Given the description of an element on the screen output the (x, y) to click on. 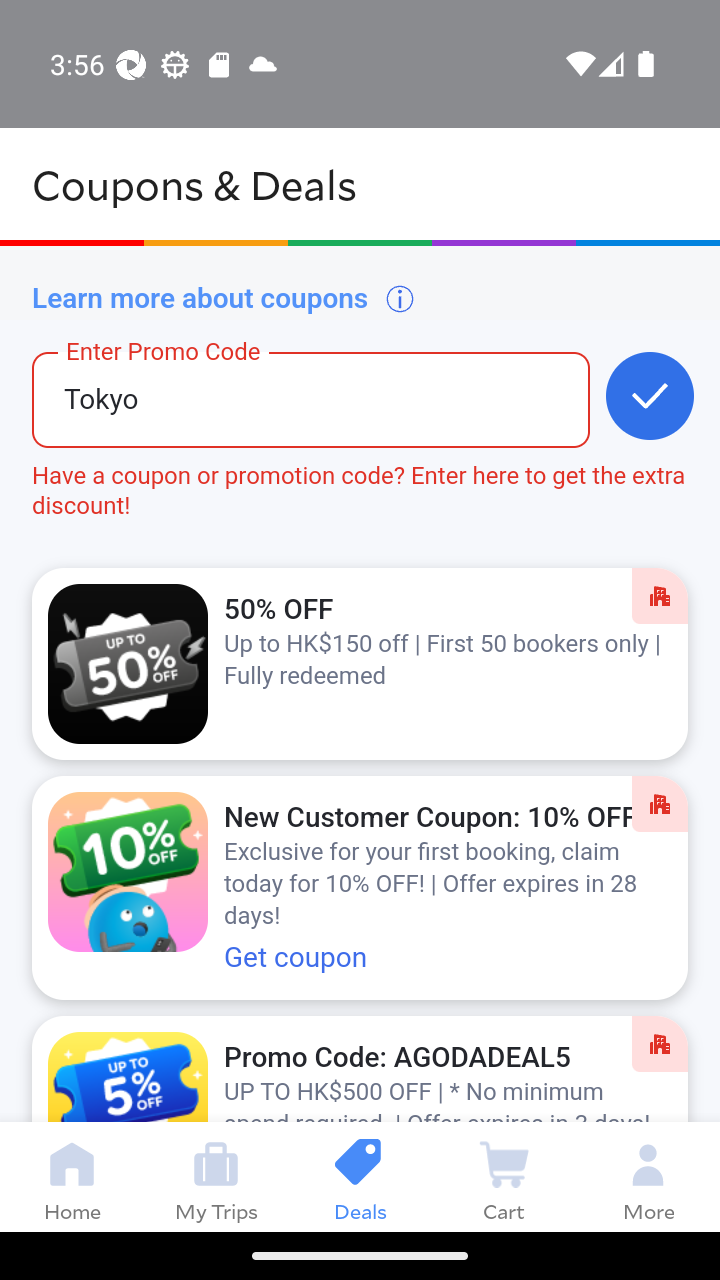
Learn more about coupons (224, 298)
Tokyo (278, 415)
Home (72, 1176)
My Trips (216, 1176)
Deals (360, 1176)
Cart (504, 1176)
More (648, 1176)
